Given the description of an element on the screen output the (x, y) to click on. 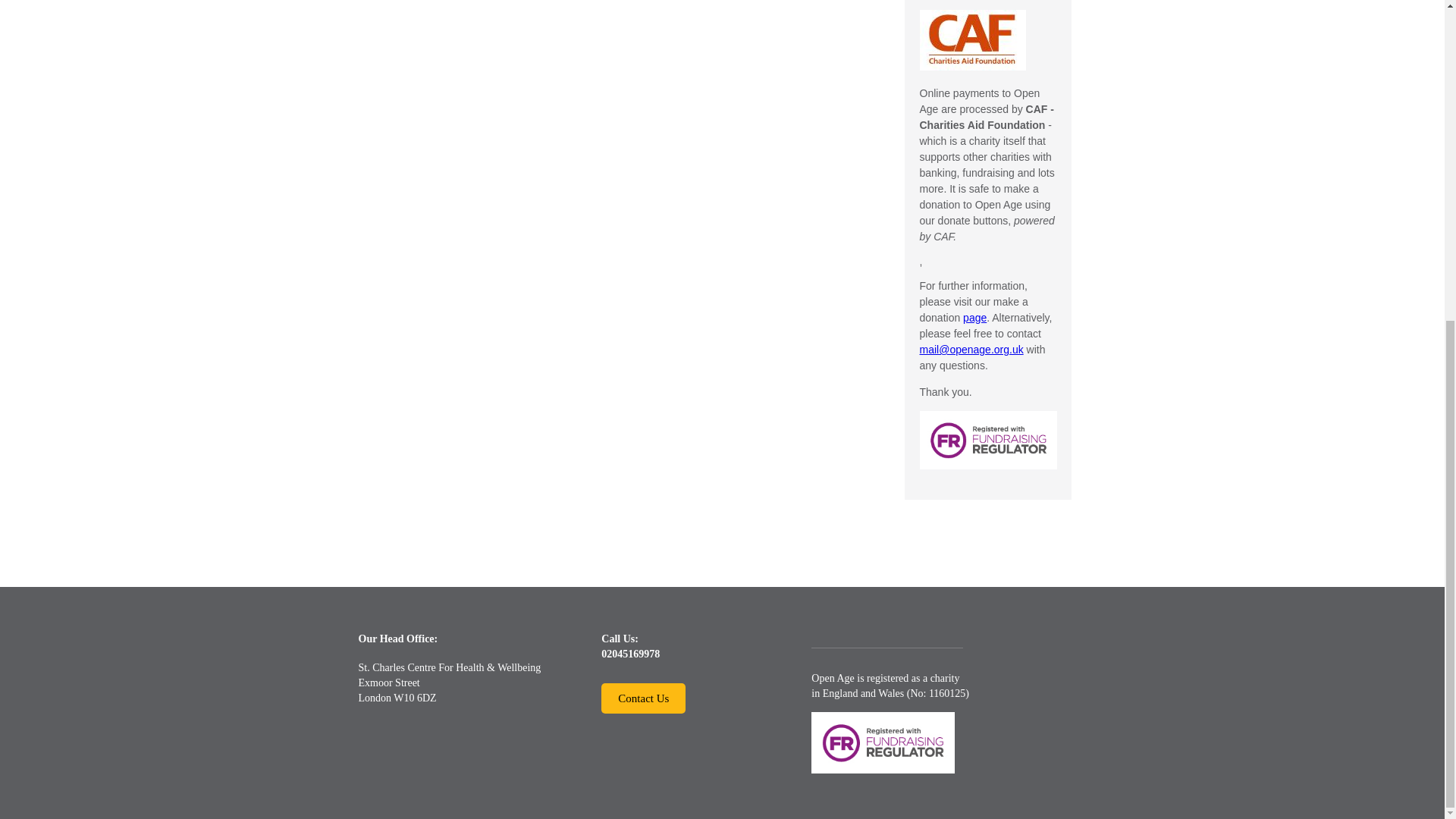
page (974, 317)
Contact Us (643, 698)
02045169978 (630, 654)
